Given the description of an element on the screen output the (x, y) to click on. 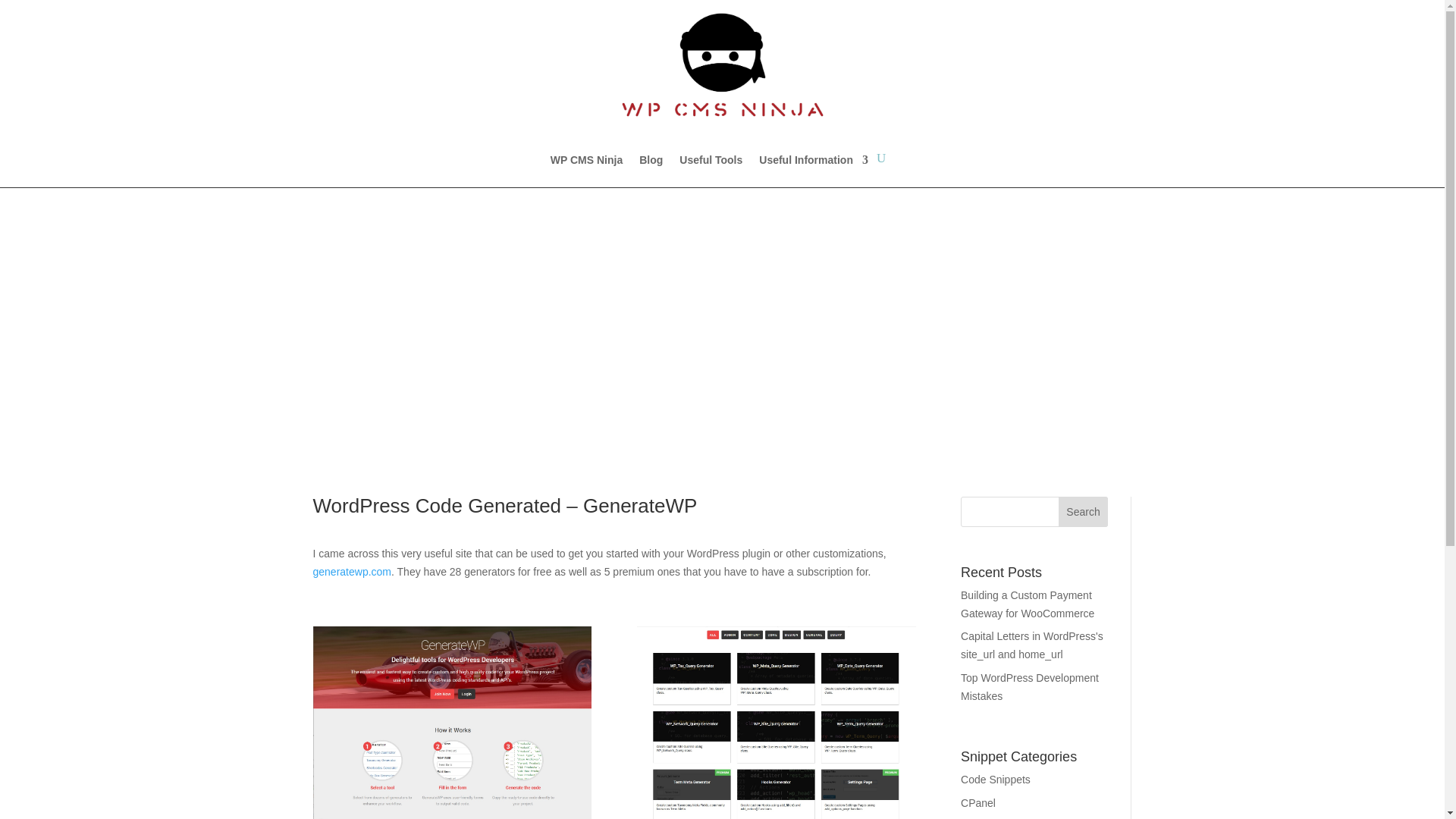
Useful Information (812, 170)
Useful Tools (710, 170)
GenerateWP (452, 722)
generatewp.com (352, 571)
Search (1083, 511)
GenerateWP-2 (776, 722)
WP CMS Ninja (586, 170)
